Given the description of an element on the screen output the (x, y) to click on. 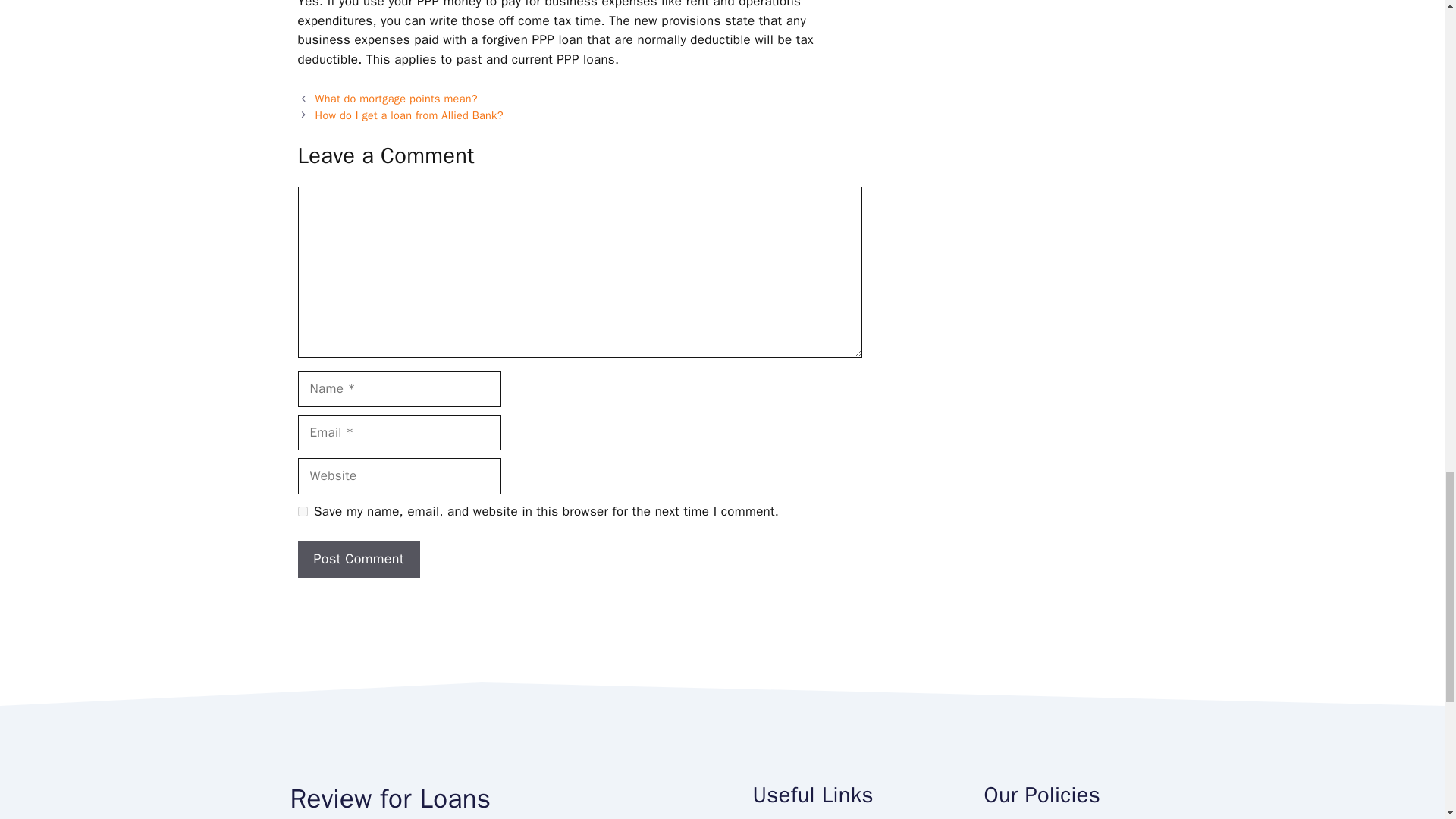
yes (302, 511)
Post Comment (358, 559)
How do I get a loan from Allied Bank? (409, 115)
What do mortgage points mean? (396, 98)
Post Comment (358, 559)
